Given the description of an element on the screen output the (x, y) to click on. 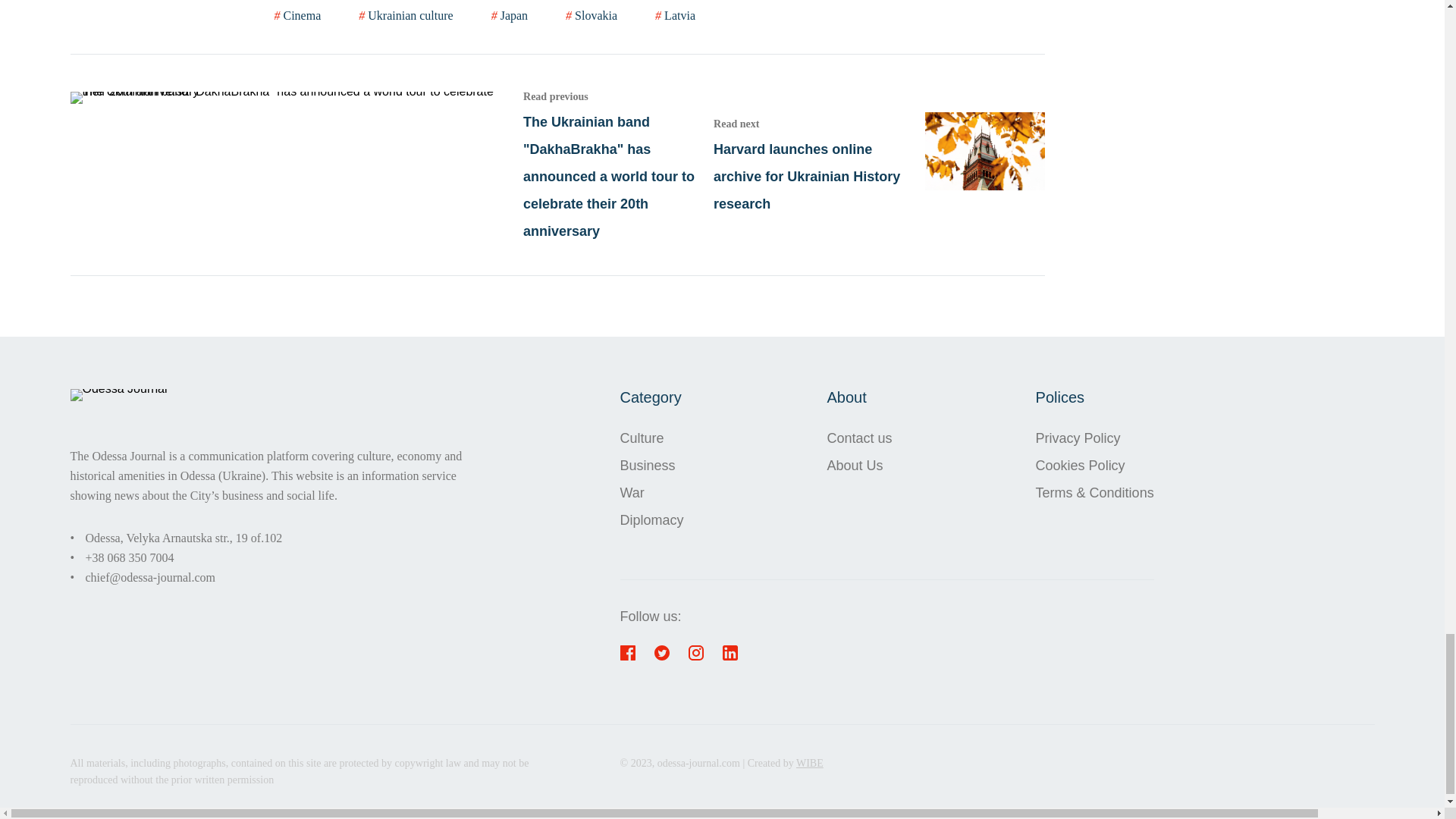
Slovakia (591, 14)
Business (652, 464)
Ukrainian culture (405, 14)
Japan (509, 14)
Odessa, Velyka Arnautska str., 19 of.102 (183, 537)
Culture (652, 437)
Latvia (675, 14)
Cinema (298, 14)
War (652, 492)
